Given the description of an element on the screen output the (x, y) to click on. 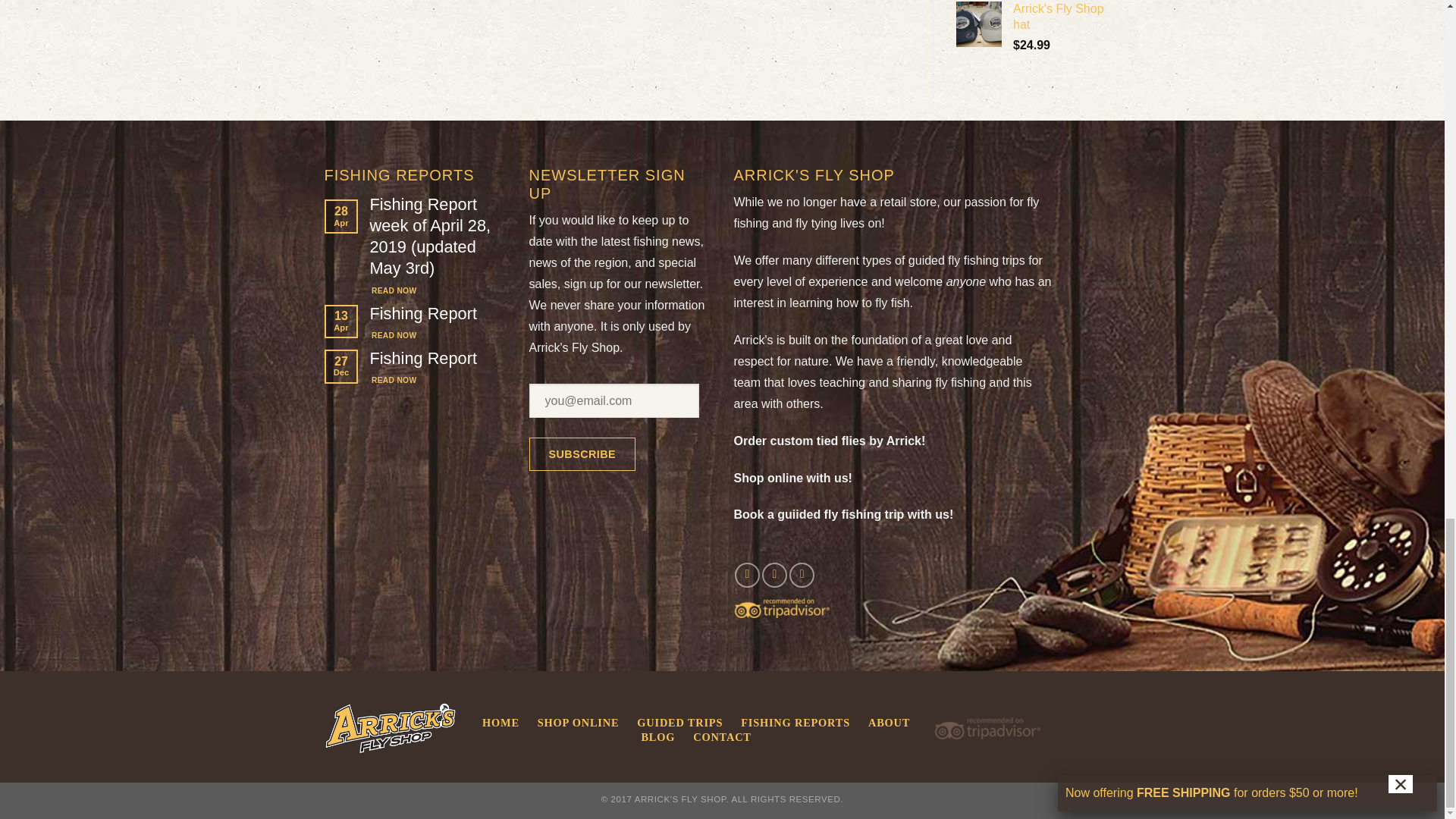
SUBSCRIBE (582, 454)
